Given the description of an element on the screen output the (x, y) to click on. 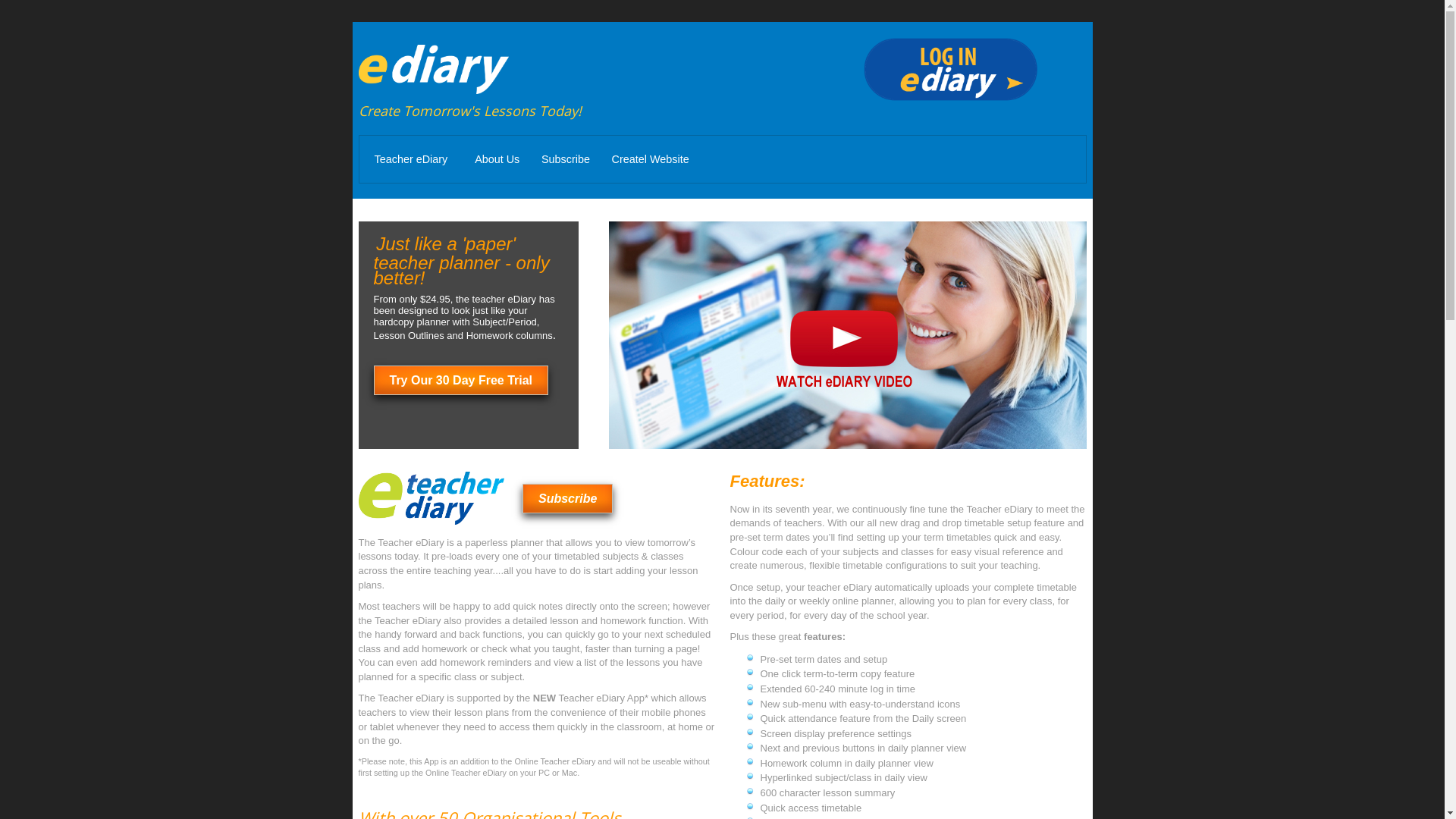
Subscribe Element type: text (567, 498)
About Us Element type: text (496, 159)
Teacher eDiary Element type: text (411, 159)
Subscribe Element type: text (565, 159)
Try Our 30 Day Free Trial Element type: text (460, 380)
Createl Website Element type: text (650, 159)
